Given the description of an element on the screen output the (x, y) to click on. 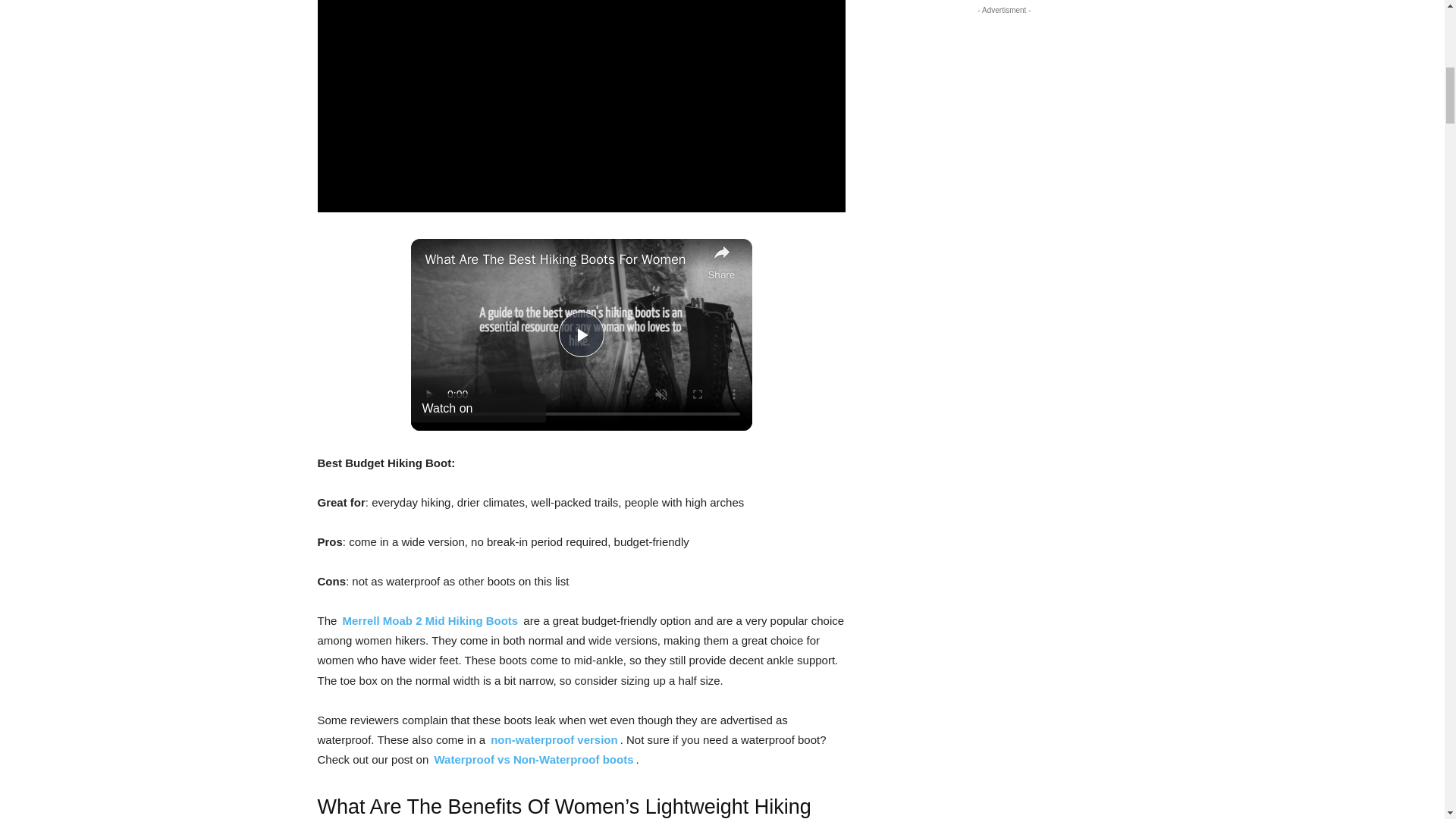
Play Video (580, 334)
